Given the description of an element on the screen output the (x, y) to click on. 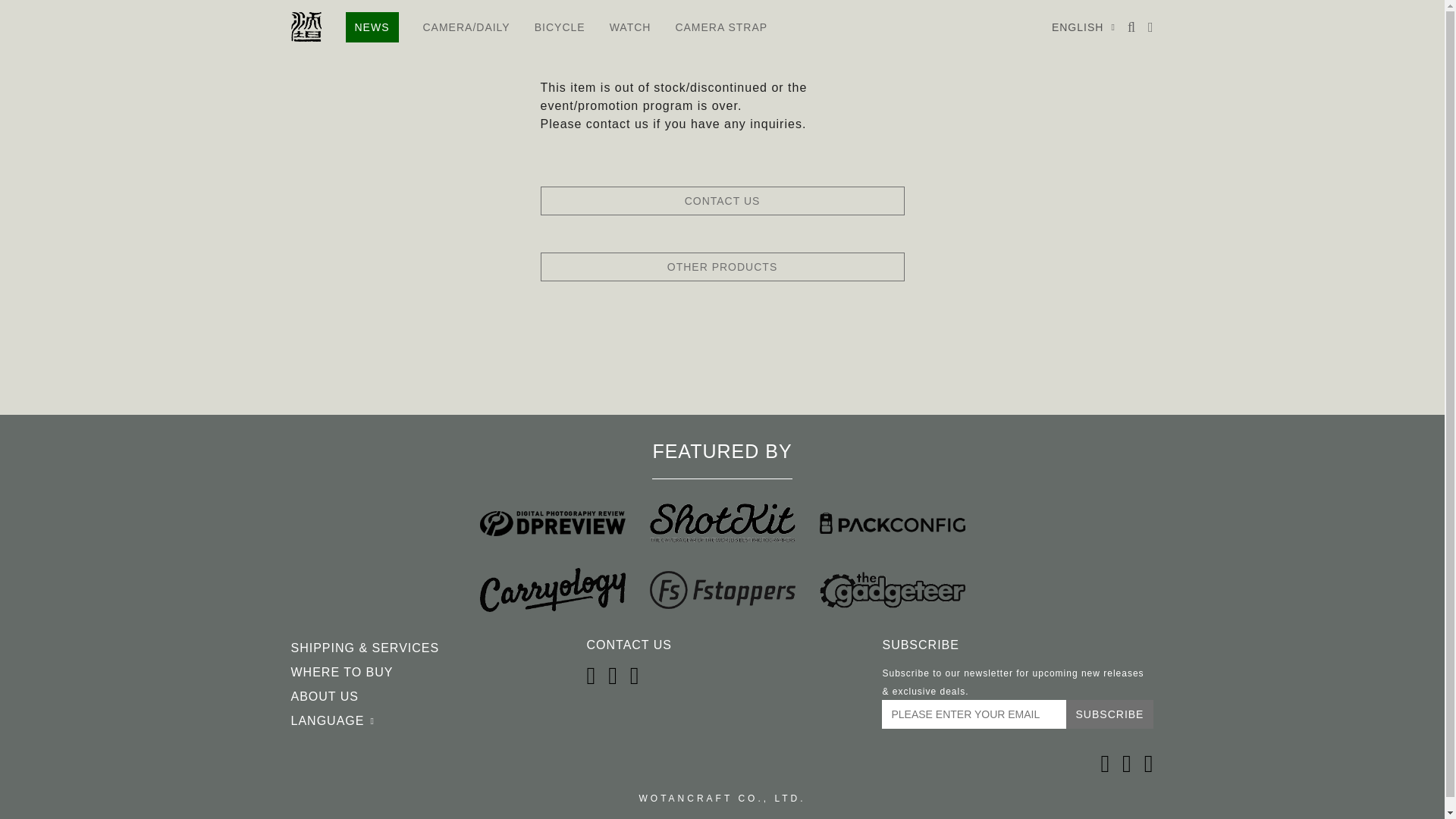
NEWS (372, 27)
WOTANCRAFT (306, 27)
About WOTANCRAFT (325, 696)
